Given the description of an element on the screen output the (x, y) to click on. 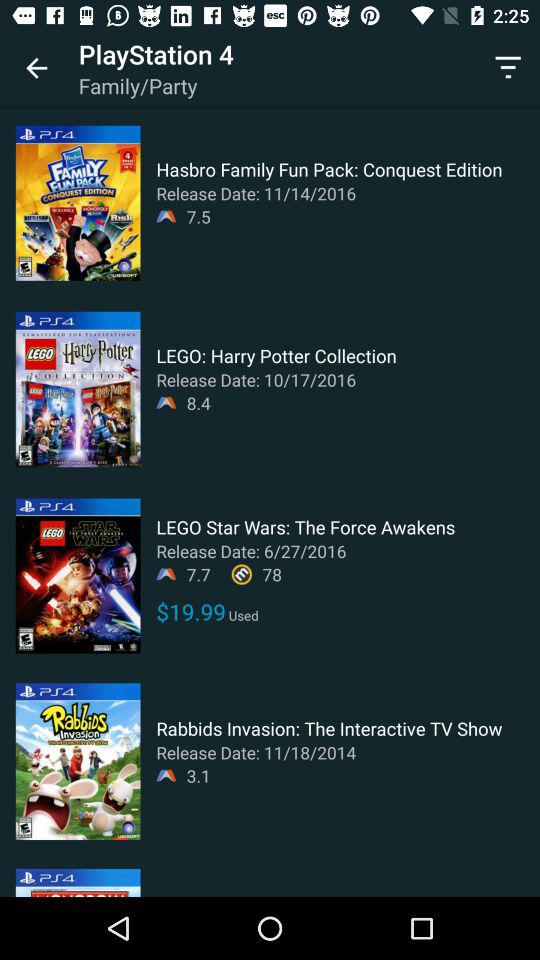
press app to the left of playstation 4 (36, 68)
